Given the description of an element on the screen output the (x, y) to click on. 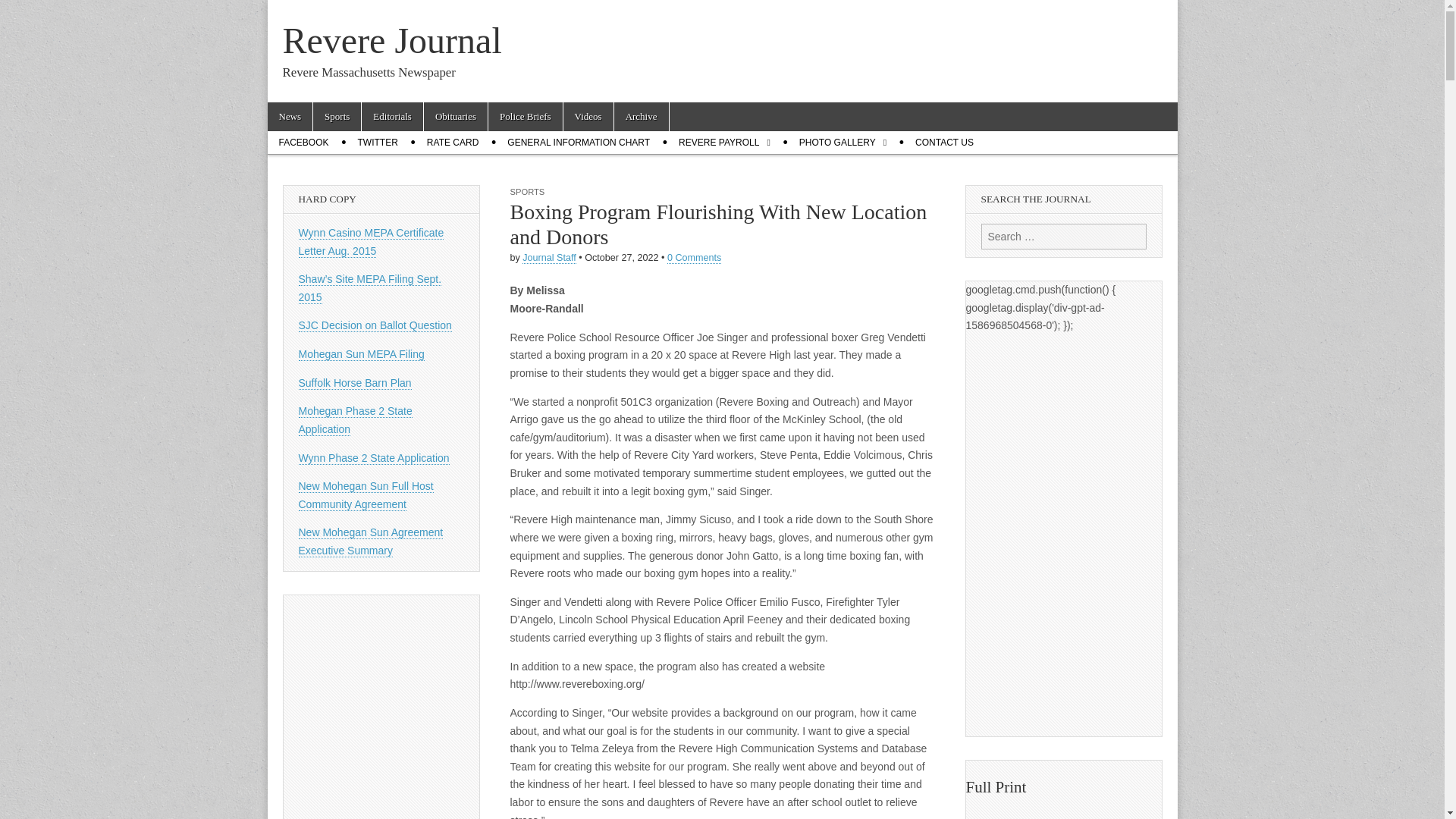
SJC Decision on Ballot Question (374, 325)
TWITTER (377, 142)
Obituaries (455, 116)
RATE CARD (451, 142)
Archive (641, 116)
Sports (337, 116)
Police Briefs (524, 116)
REVERE PAYROLL (723, 142)
Revere Journal (391, 40)
